Given the description of an element on the screen output the (x, y) to click on. 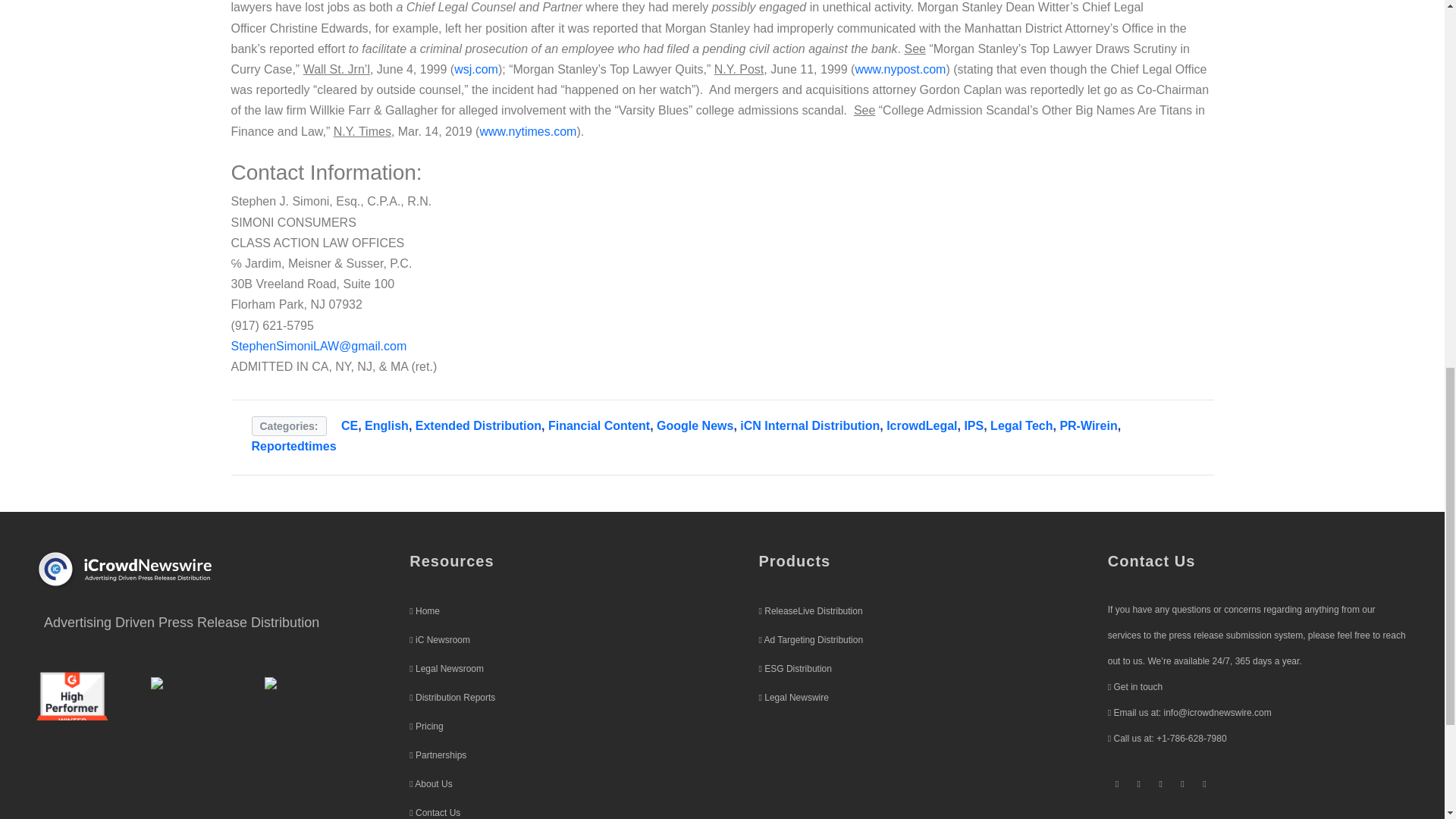
Google News (694, 425)
iCN Internal Distribution (809, 425)
Financial Content (598, 425)
PR-Wirein (1087, 425)
English (387, 425)
Extended Distribution (477, 425)
Legal Tech (1021, 425)
wsj.com (475, 69)
IPS (973, 425)
www.nytimes.com (527, 131)
IcrowdLegal (921, 425)
www.nypost.com (899, 69)
CE (349, 425)
